Given the description of an element on the screen output the (x, y) to click on. 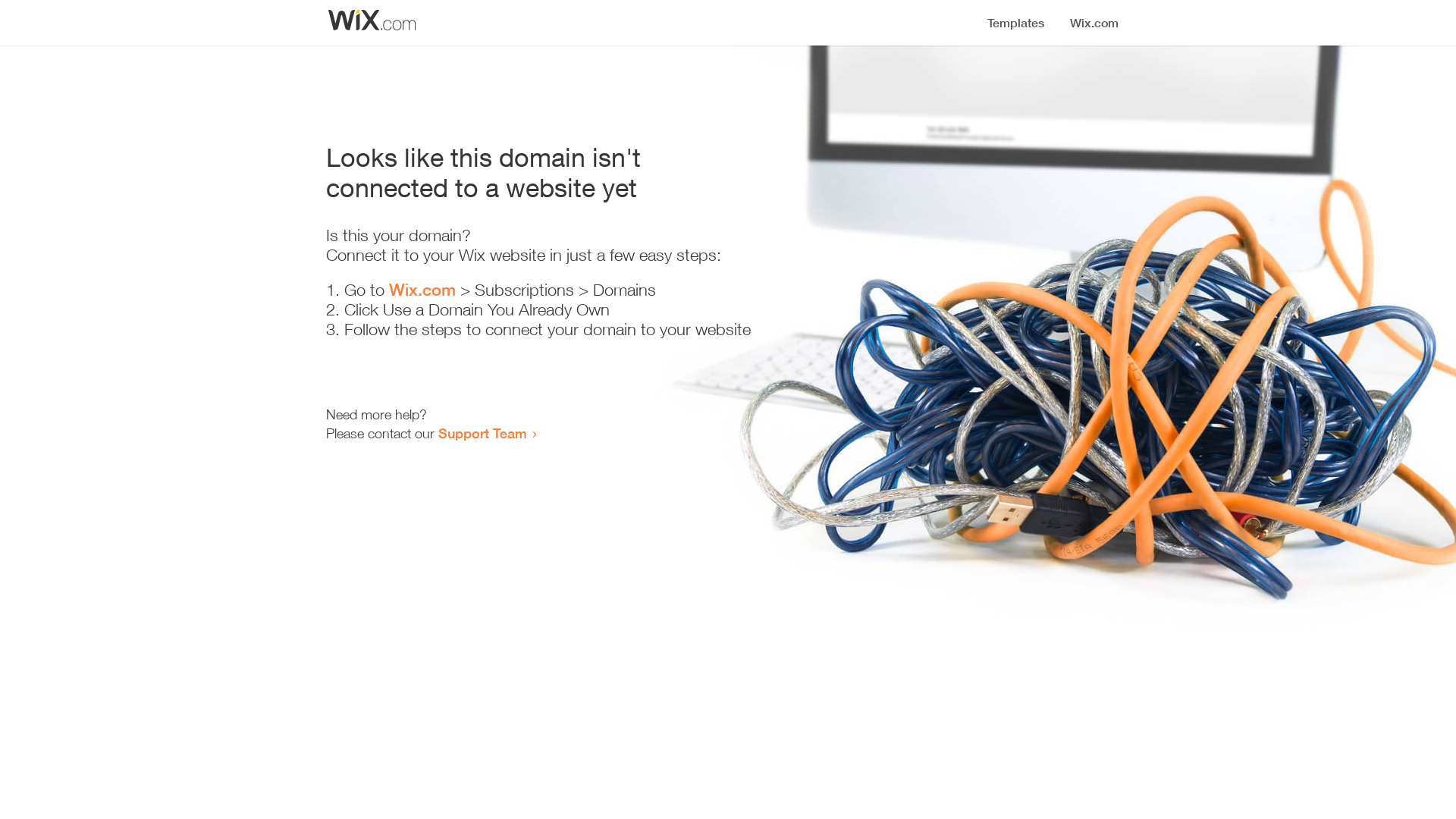
Wix.com Element type: text (422, 289)
Support Team Element type: text (482, 432)
